Given the description of an element on the screen output the (x, y) to click on. 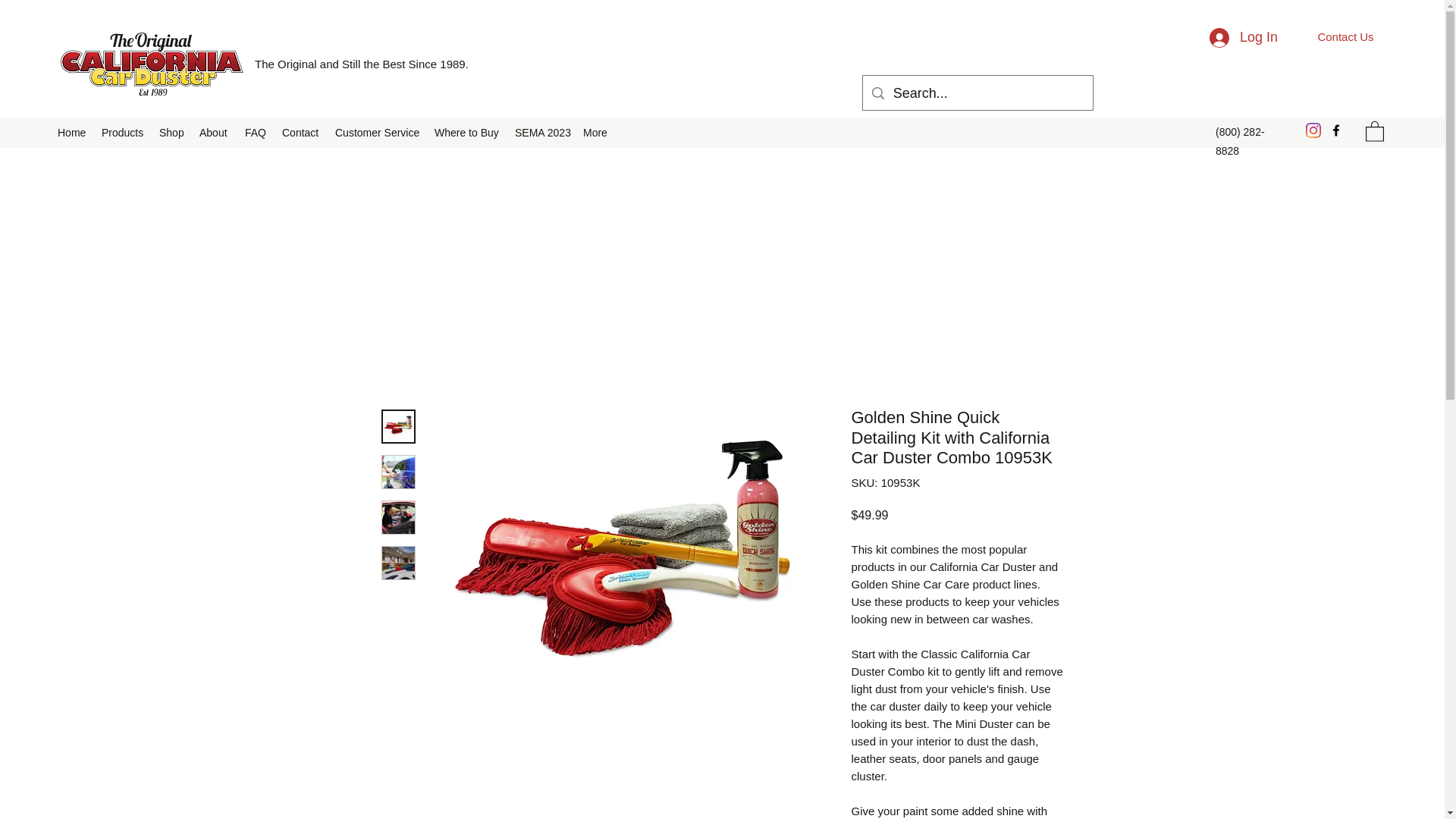
Home (71, 132)
About (214, 132)
SEMA 2023 (540, 132)
Contact Us (1345, 37)
Customer Service (376, 132)
FAQ (256, 132)
Products (122, 132)
Where to Buy (466, 132)
Contact (301, 132)
Shop (171, 132)
Log In (1243, 37)
